Given the description of an element on the screen output the (x, y) to click on. 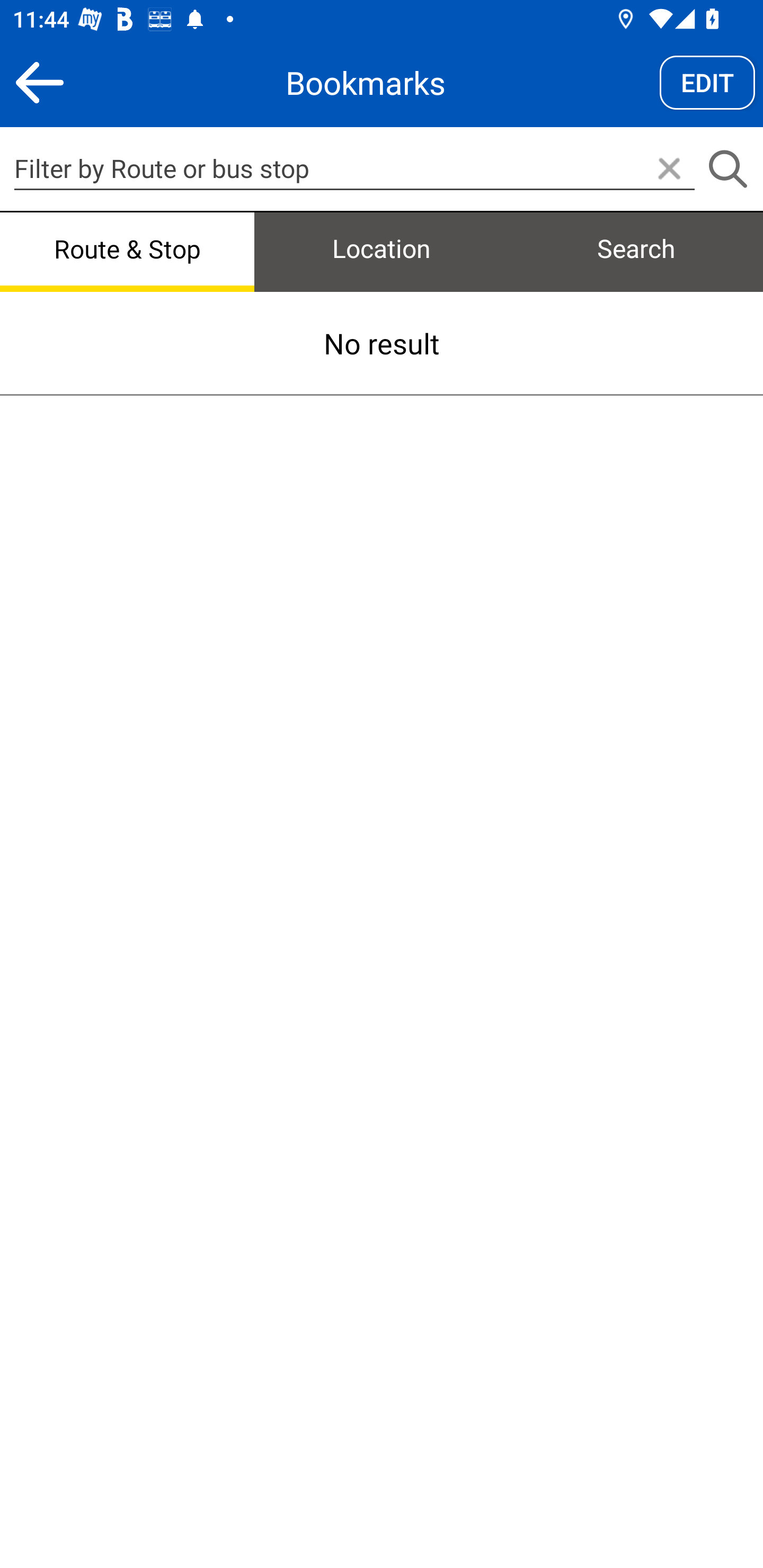
Back (39, 82)
EDIT Edit (707, 81)
Filter by Route or bus stop (354, 168)
Search (727, 169)
Clear (669, 169)
Route & Stop selected (127, 249)
Location (381, 249)
Search (635, 249)
